Given the description of an element on the screen output the (x, y) to click on. 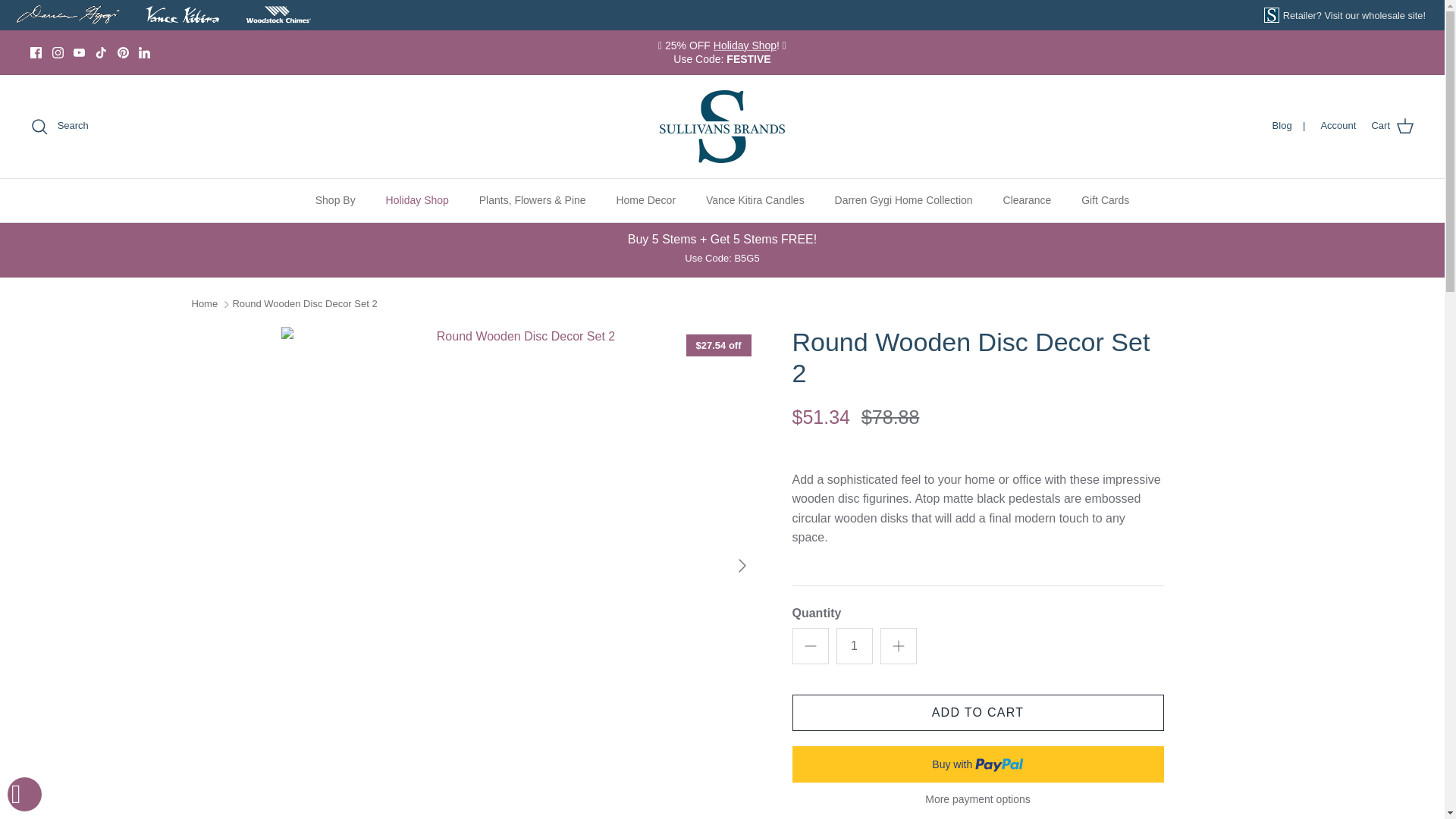
1 (853, 646)
Pinterest (122, 52)
Search (59, 126)
Facebook (36, 52)
RIGHT (741, 565)
Minus (809, 646)
Pinterest (122, 52)
Account (1337, 125)
Retailer? Visit our wholesale site! (1353, 15)
Shop By (335, 200)
Plus (897, 646)
Cart (1392, 126)
Holiday Shop (744, 45)
Instagram (58, 52)
Instagram (58, 52)
